Given the description of an element on the screen output the (x, y) to click on. 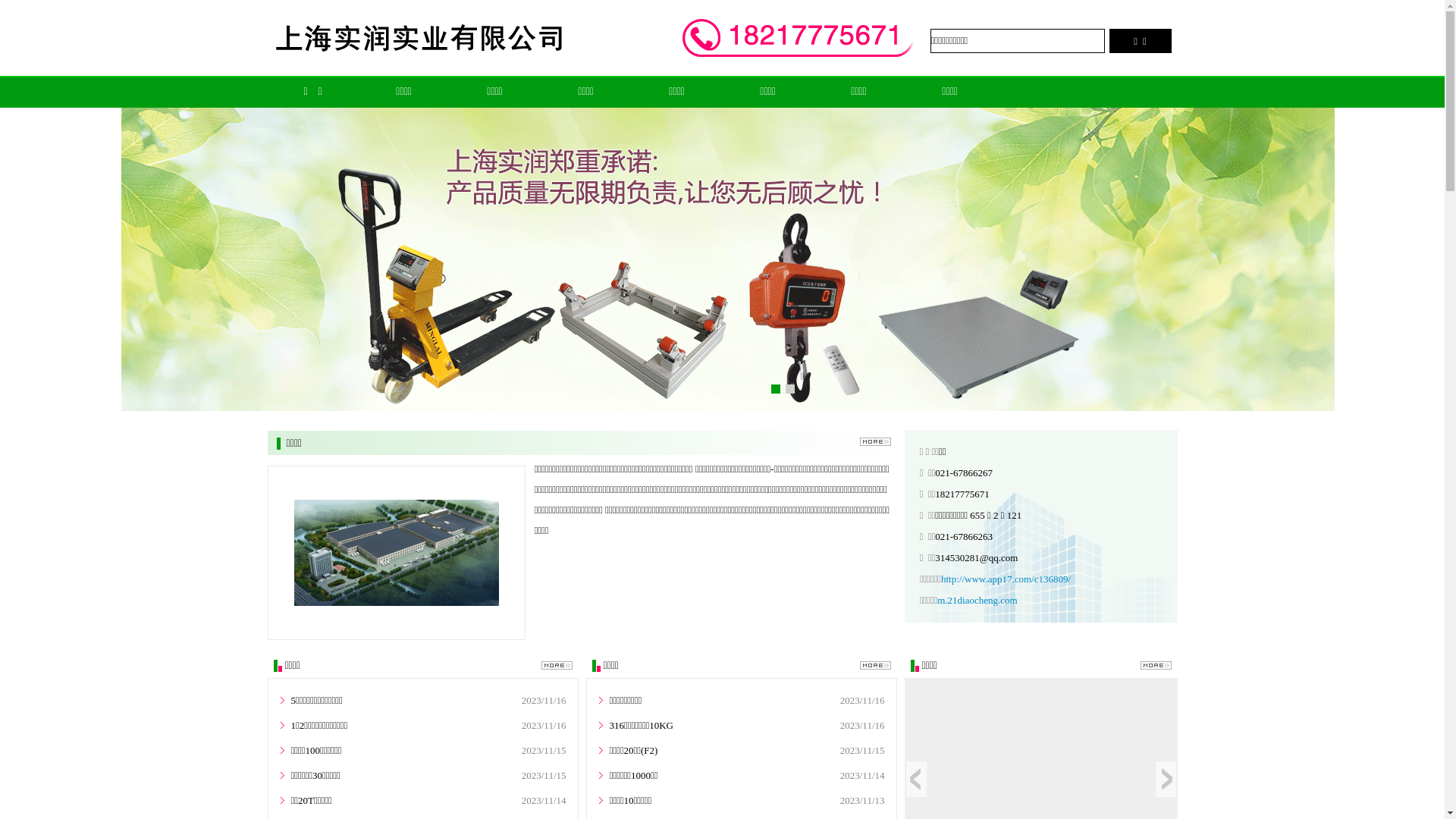
m.21diaocheng.com Element type: text (976, 599)
http://www.app17.com/c136809/ Element type: text (1005, 578)
